Given the description of an element on the screen output the (x, y) to click on. 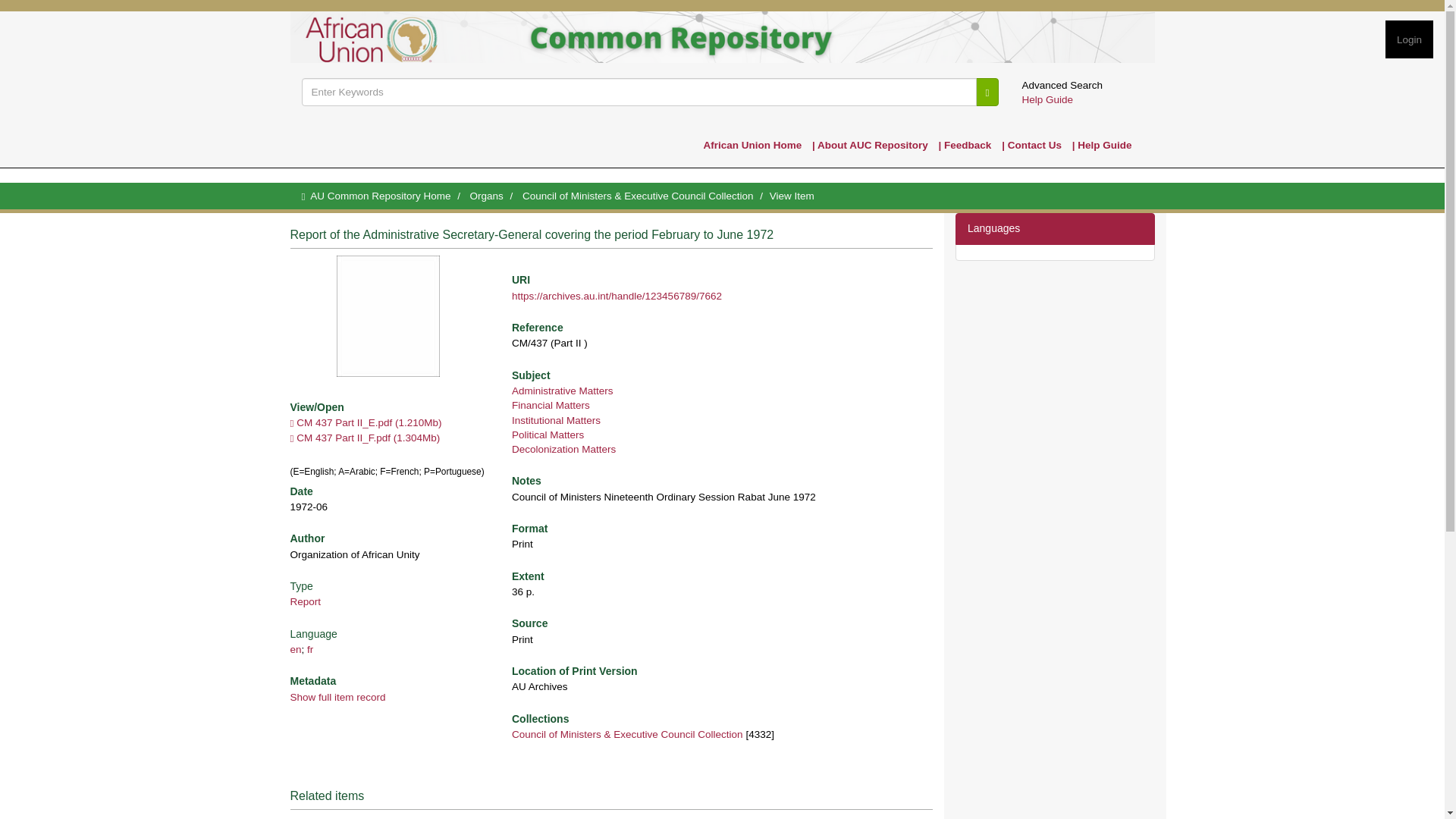
Financial Matters (550, 405)
Decolonization Matters (563, 449)
Report (304, 601)
Show full item record (337, 696)
African Union Home (752, 144)
Organs (486, 195)
Help Guide (1047, 99)
en (295, 649)
Advanced Search (1062, 84)
AU Common Repository Home (379, 195)
Political Matters (547, 434)
Institutional Matters (555, 419)
Login (1409, 39)
Administrative Matters (562, 390)
